Given the description of an element on the screen output the (x, y) to click on. 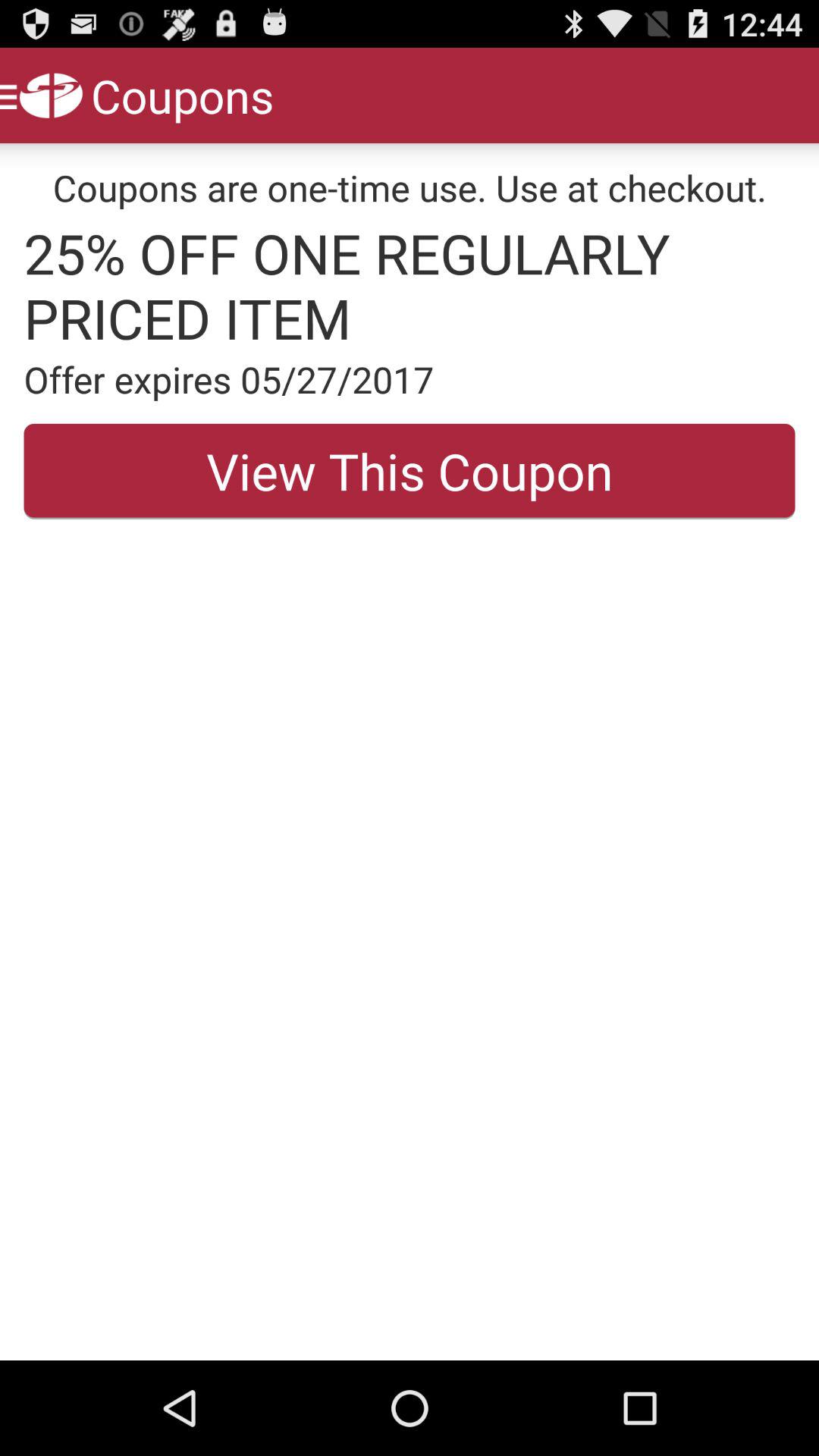
tap the 25 off one icon (409, 285)
